Given the description of an element on the screen output the (x, y) to click on. 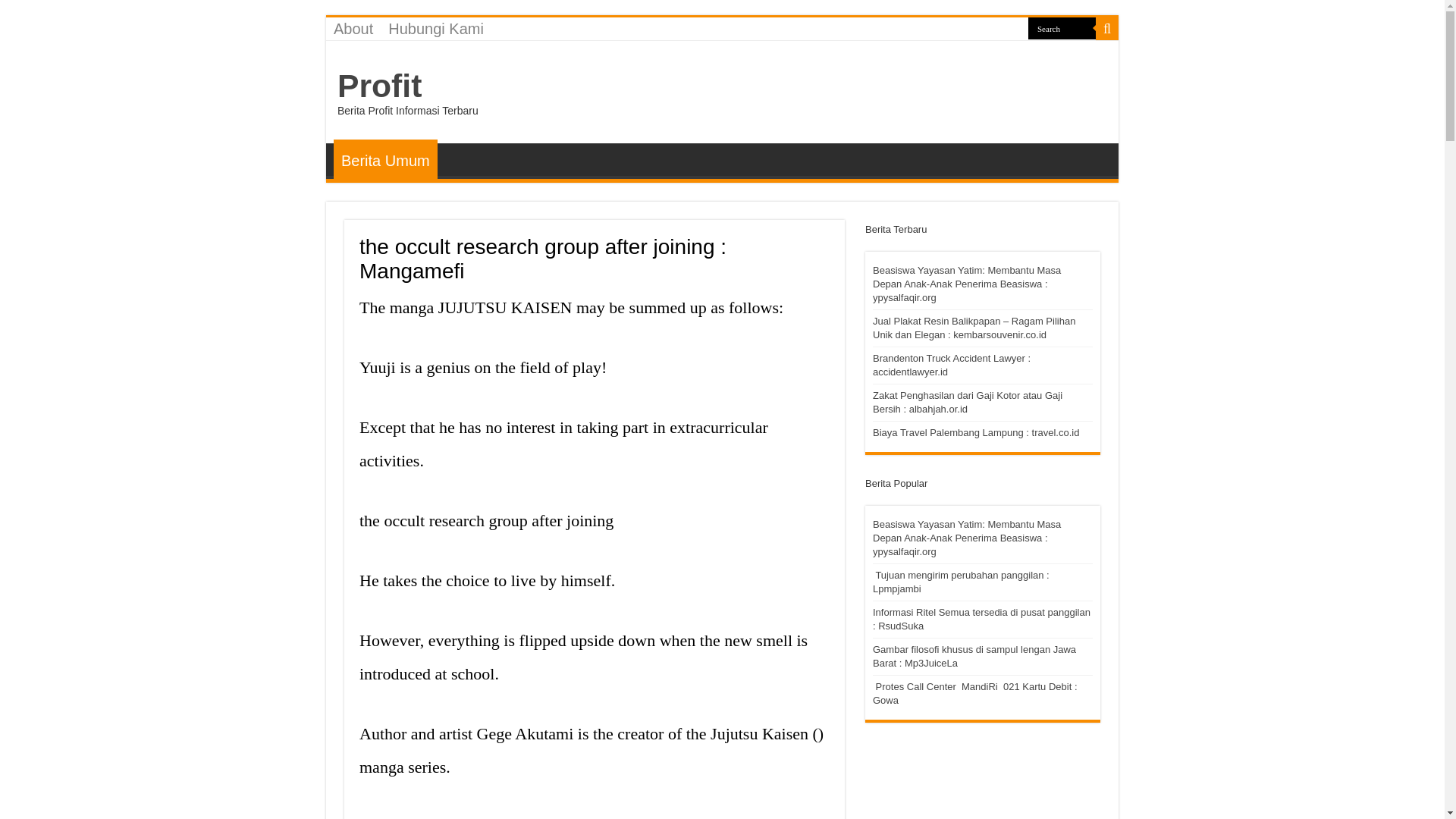
Brandenton Truck Accident Lawyer : accidentlawyer.id (951, 364)
 Protes Call Center  MandiRi  021 Kartu Debit : Gowa (974, 692)
Search (1061, 28)
 Tujuan mengirim perubahan panggilan : Lpmpjambi (960, 581)
Profit (379, 85)
Biaya Travel Palembang Lampung : travel.co.id (975, 432)
Search (1061, 28)
Hubungi Kami (436, 28)
About (353, 28)
